Given the description of an element on the screen output the (x, y) to click on. 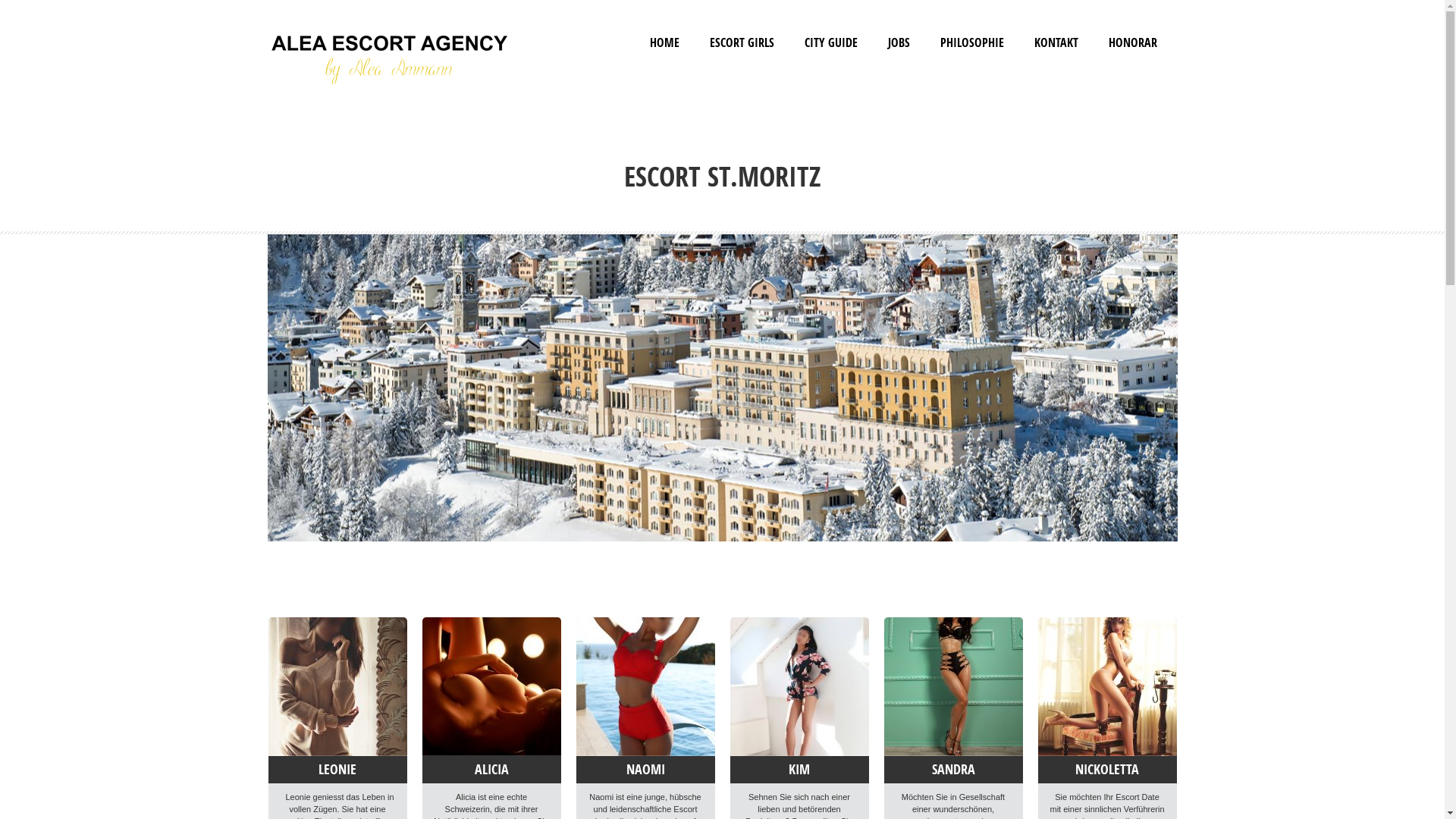
CITY GUIDE Element type: text (830, 42)
ESCORT GIRLS Element type: text (741, 42)
HONORAR Element type: text (1132, 42)
JOBS Element type: text (899, 42)
KONTAKT Element type: text (1056, 42)
PHILOSOPHIE Element type: text (972, 42)
HOME Element type: text (664, 42)
